Given the description of an element on the screen output the (x, y) to click on. 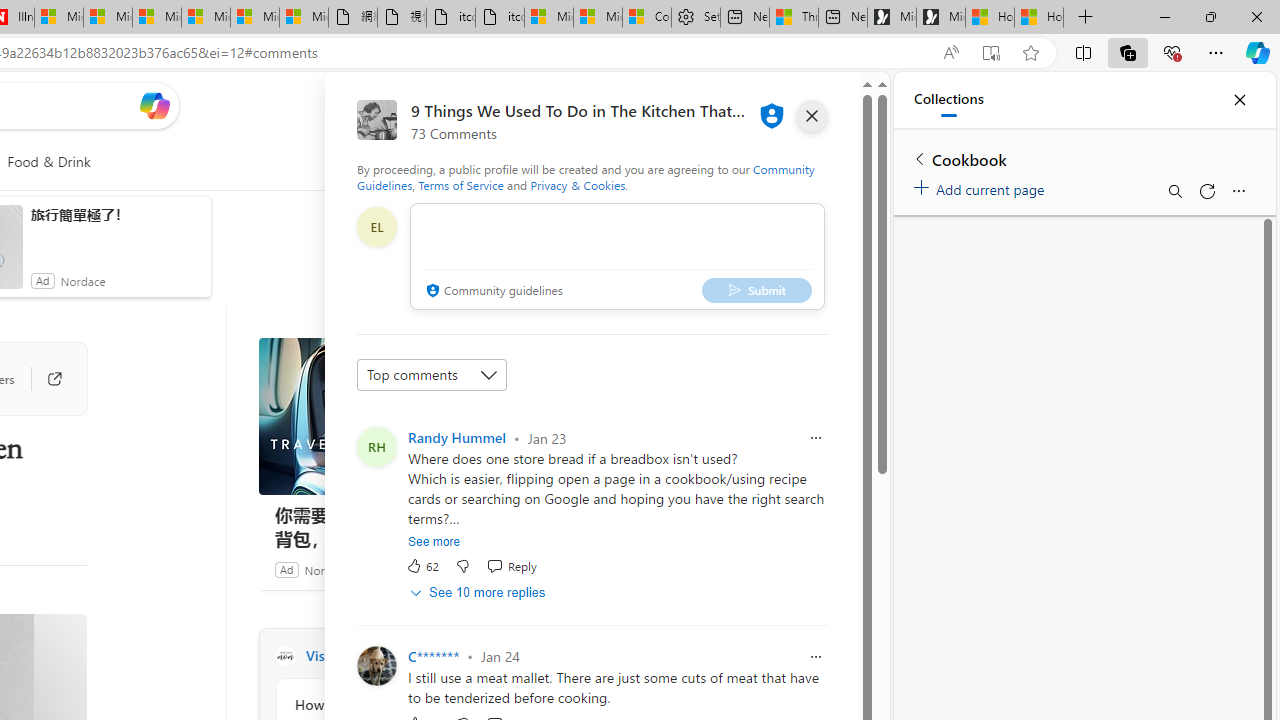
More options menu (1238, 190)
Profile Picture (376, 665)
comment-box (617, 256)
Community guidelines (492, 291)
